Given the description of an element on the screen output the (x, y) to click on. 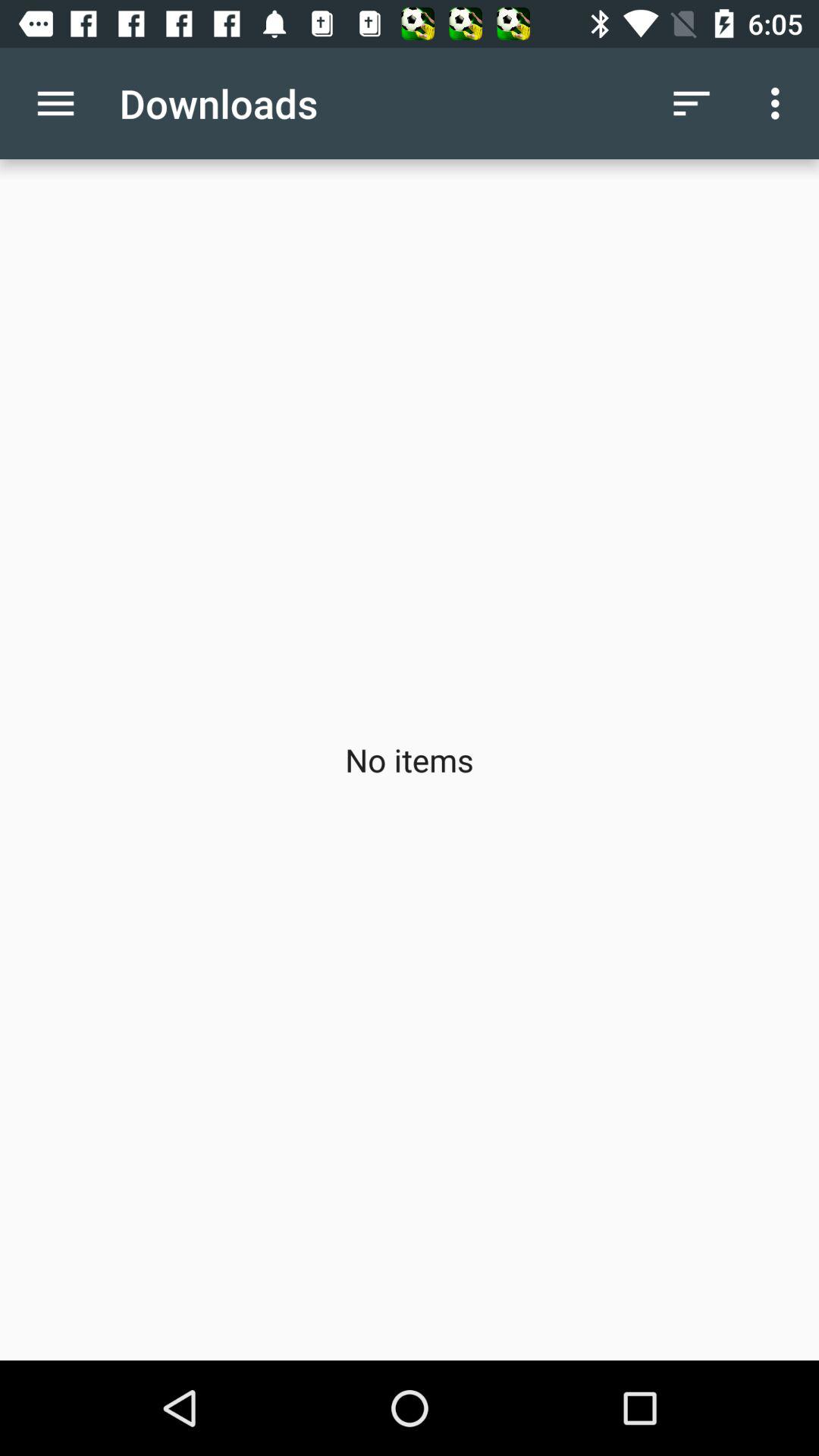
turn on app next to the downloads item (55, 103)
